Given the description of an element on the screen output the (x, y) to click on. 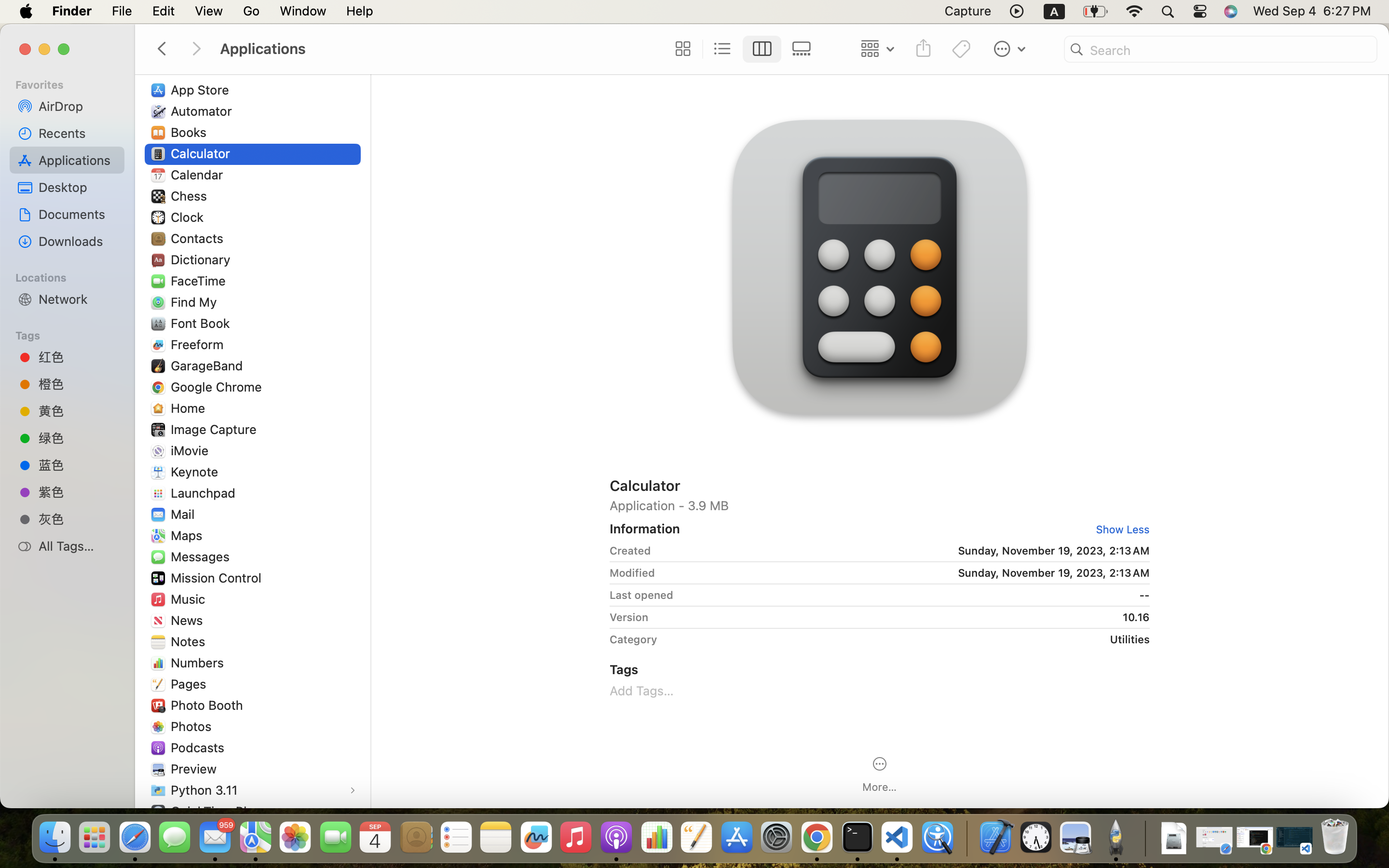
0.4285714328289032 Element type: AXDockItem (965, 837)
Books Element type: AXTextField (190, 131)
Tags Element type: AXStaticText (72, 334)
Launchpad Element type: AXTextField (205, 492)
QuickTime Player Element type: AXTextField (222, 810)
